Given the description of an element on the screen output the (x, y) to click on. 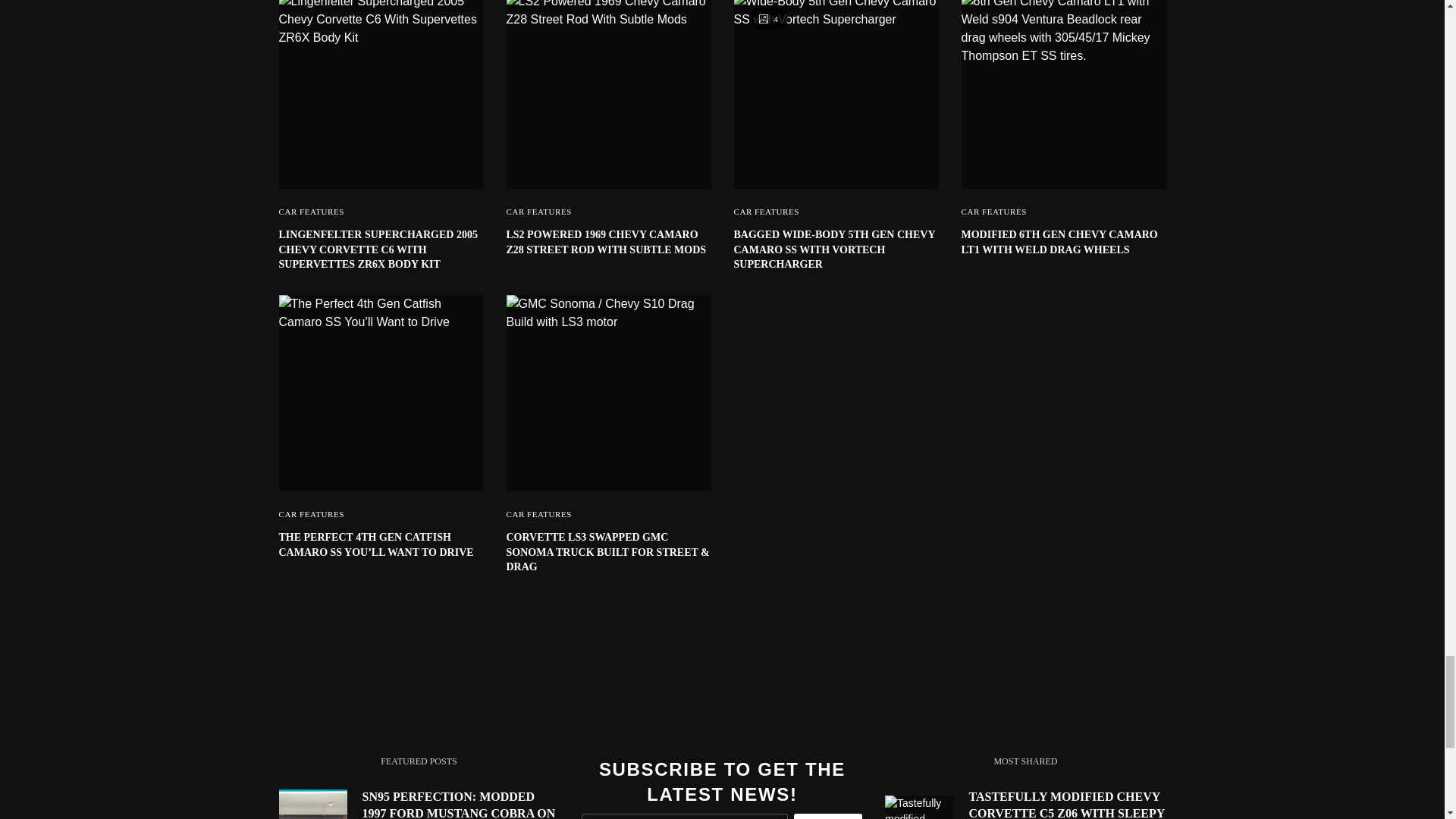
Modified 6th Gen Chevy Camaro LT1 With Weld Drag Wheels (1063, 242)
